Given the description of an element on the screen output the (x, y) to click on. 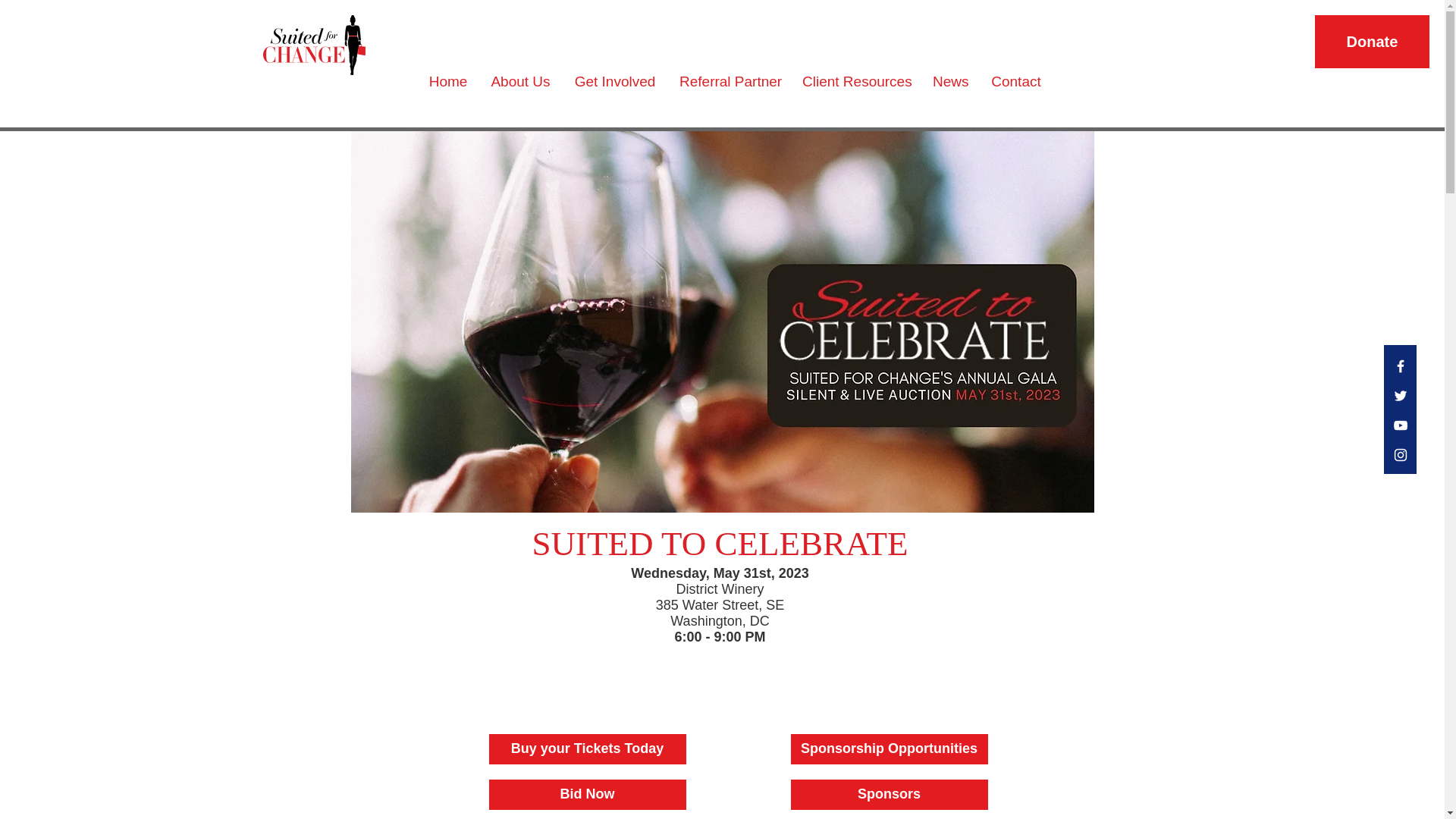
Home (447, 81)
Donate (1371, 41)
Contact (1015, 81)
News (950, 81)
Sponsors (888, 794)
About Us (520, 81)
Sponsorship Opportunities (888, 748)
Referral Partner (729, 81)
Bid Now (586, 794)
Get Involved (615, 81)
Client Resources (855, 81)
Buy your Tickets Today (586, 748)
